Given the description of an element on the screen output the (x, y) to click on. 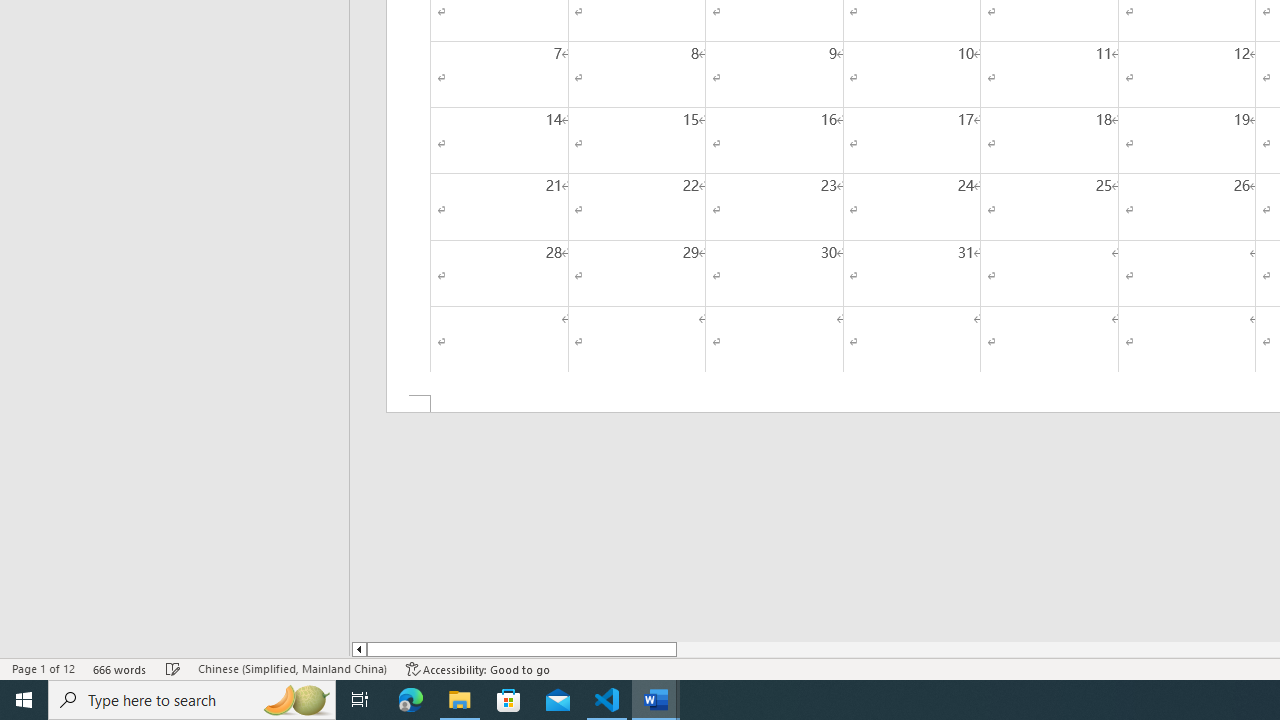
Spelling and Grammar Check Checking (173, 668)
Word Count 666 words (119, 668)
Page Number Page 1 of 12 (43, 668)
Column left (358, 649)
Accessibility Checker Accessibility: Good to go (478, 668)
Language Chinese (Simplified, Mainland China) (292, 668)
